Given the description of an element on the screen output the (x, y) to click on. 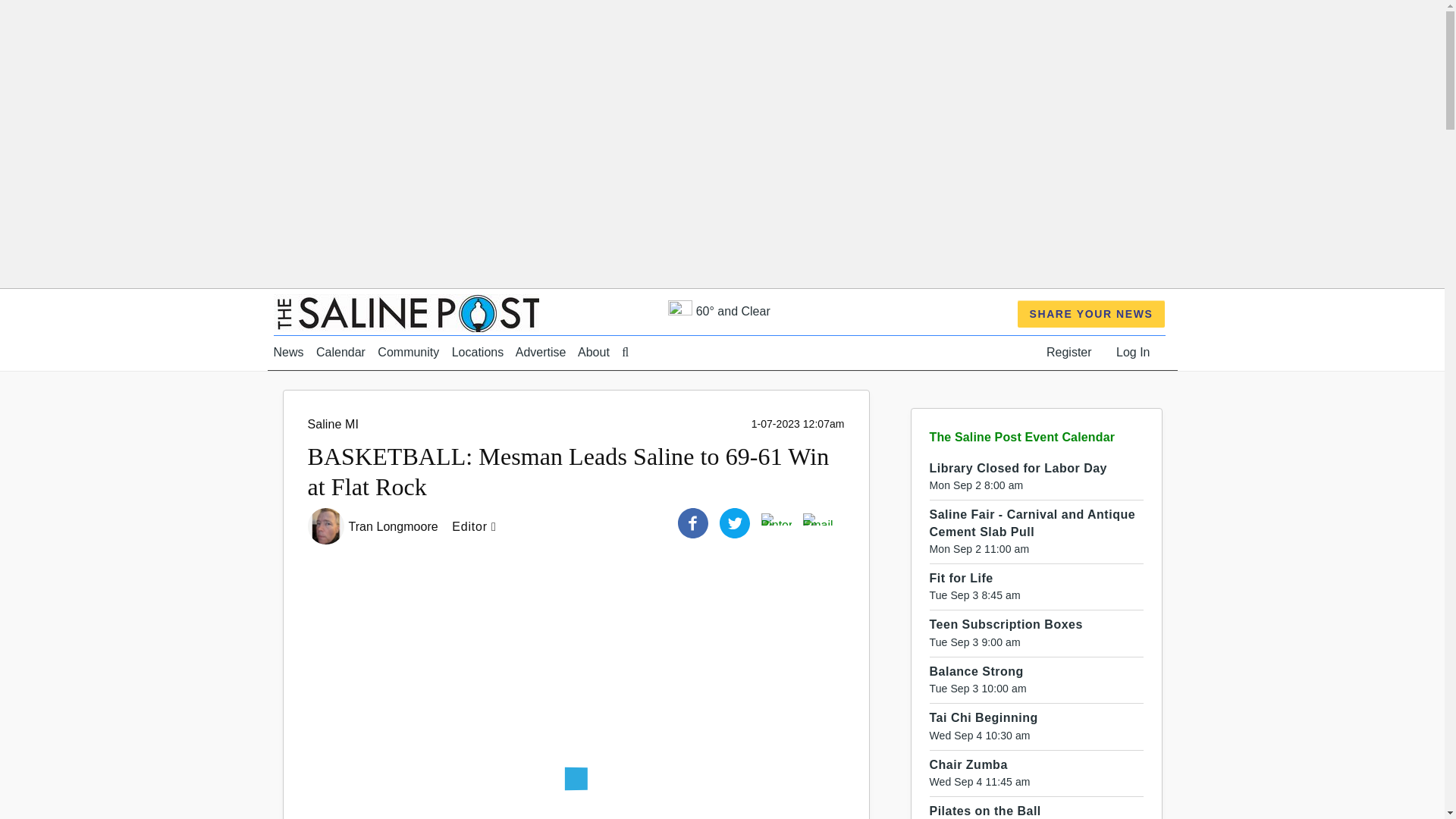
Community (408, 351)
Advertise (540, 351)
About (594, 351)
Editor (477, 526)
The Saline Post (405, 311)
Calendar (340, 351)
News (287, 351)
Log In (1132, 351)
The Saline Post (405, 313)
Register (1069, 351)
